Given the description of an element on the screen output the (x, y) to click on. 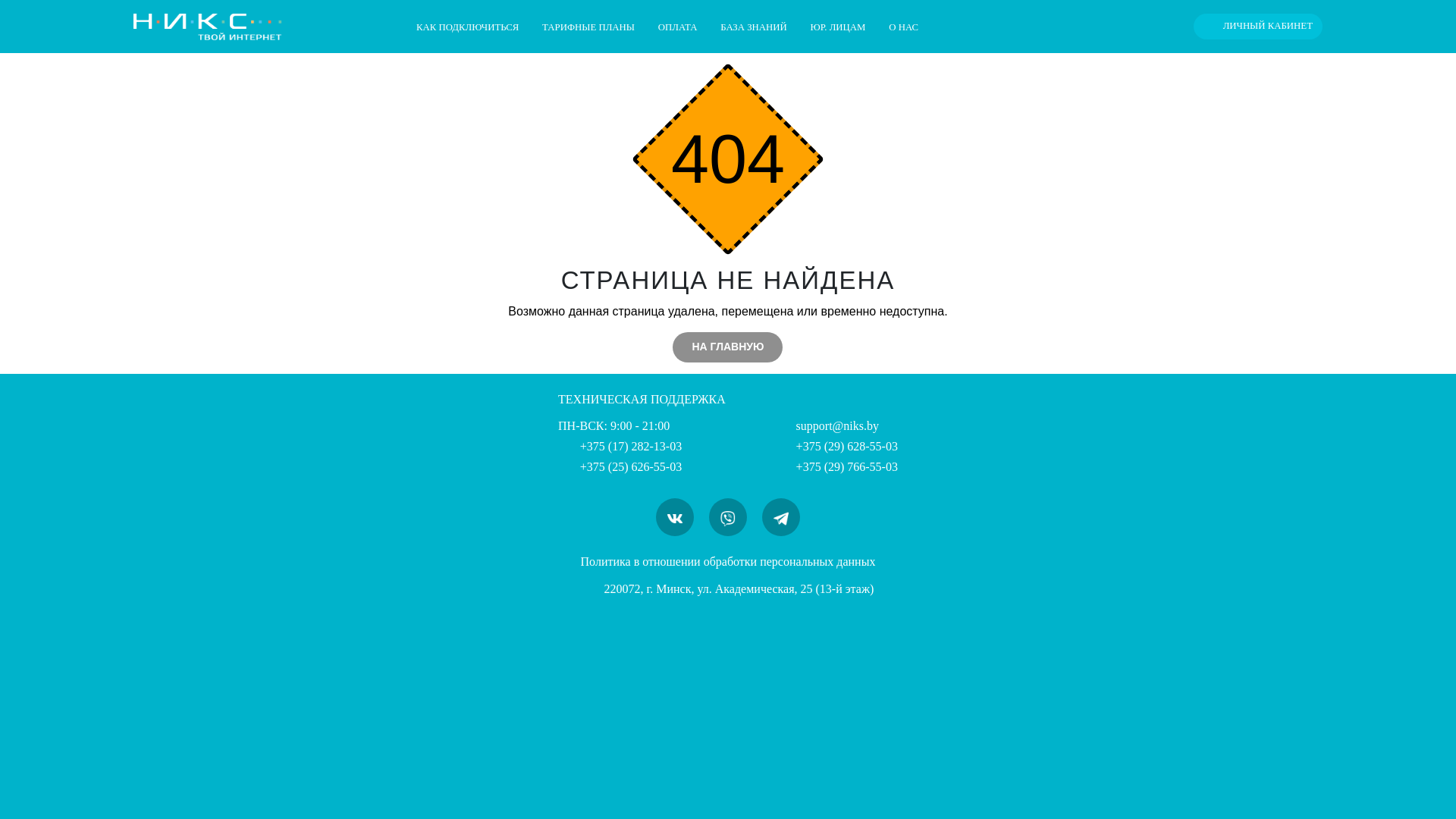
+375 (17) 282-13-03 Element type: text (619, 445)
+375 (29) 628-55-03 Element type: text (835, 445)
+375 (29) 766-55-03 Element type: text (835, 466)
support@niks.by Element type: text (826, 425)
+375 (25) 626-55-03 Element type: text (619, 466)
